Given the description of an element on the screen output the (x, y) to click on. 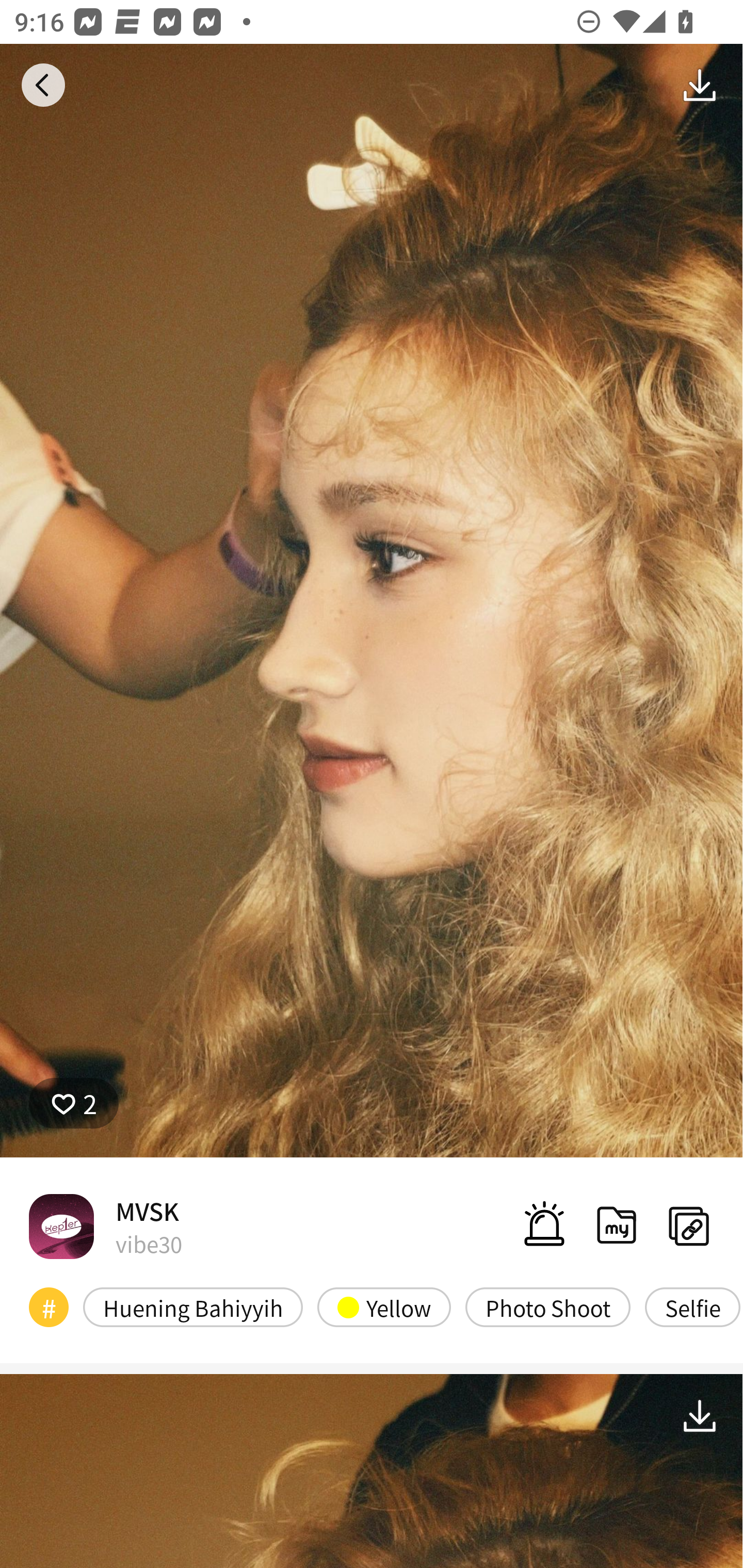
2 (73, 1102)
MVSK vibe30 (105, 1226)
Huening Bahiyyih (193, 1306)
Yellow (384, 1306)
Photo Shoot (547, 1306)
Selfie (692, 1306)
